Given the description of an element on the screen output the (x, y) to click on. 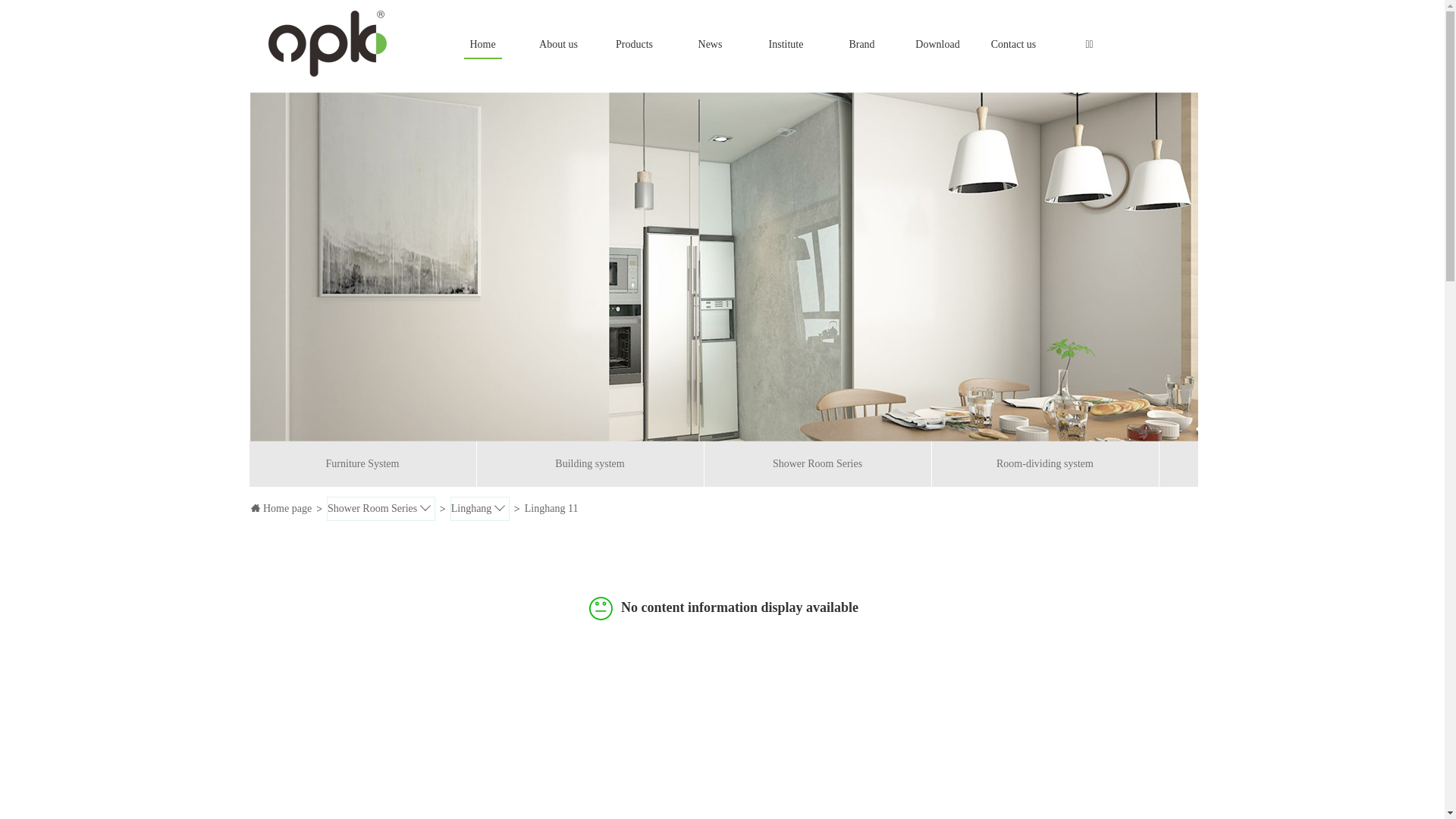
Home page Element type: text (281, 508)
Shower Room Series Element type: text (380, 508)
Contact us Element type: text (1013, 44)
Shower Room Series Element type: text (817, 463)
Institute Element type: text (785, 44)
Building system Element type: text (589, 463)
Brand Element type: text (861, 44)
About us Element type: text (558, 44)
News Element type: text (709, 44)
Furniture System Element type: text (362, 463)
Home Element type: text (482, 44)
Products Element type: text (633, 44)
Linghang Element type: text (479, 508)
Download Element type: text (937, 44)
Room-dividing system Element type: text (1044, 463)
